Given the description of an element on the screen output the (x, y) to click on. 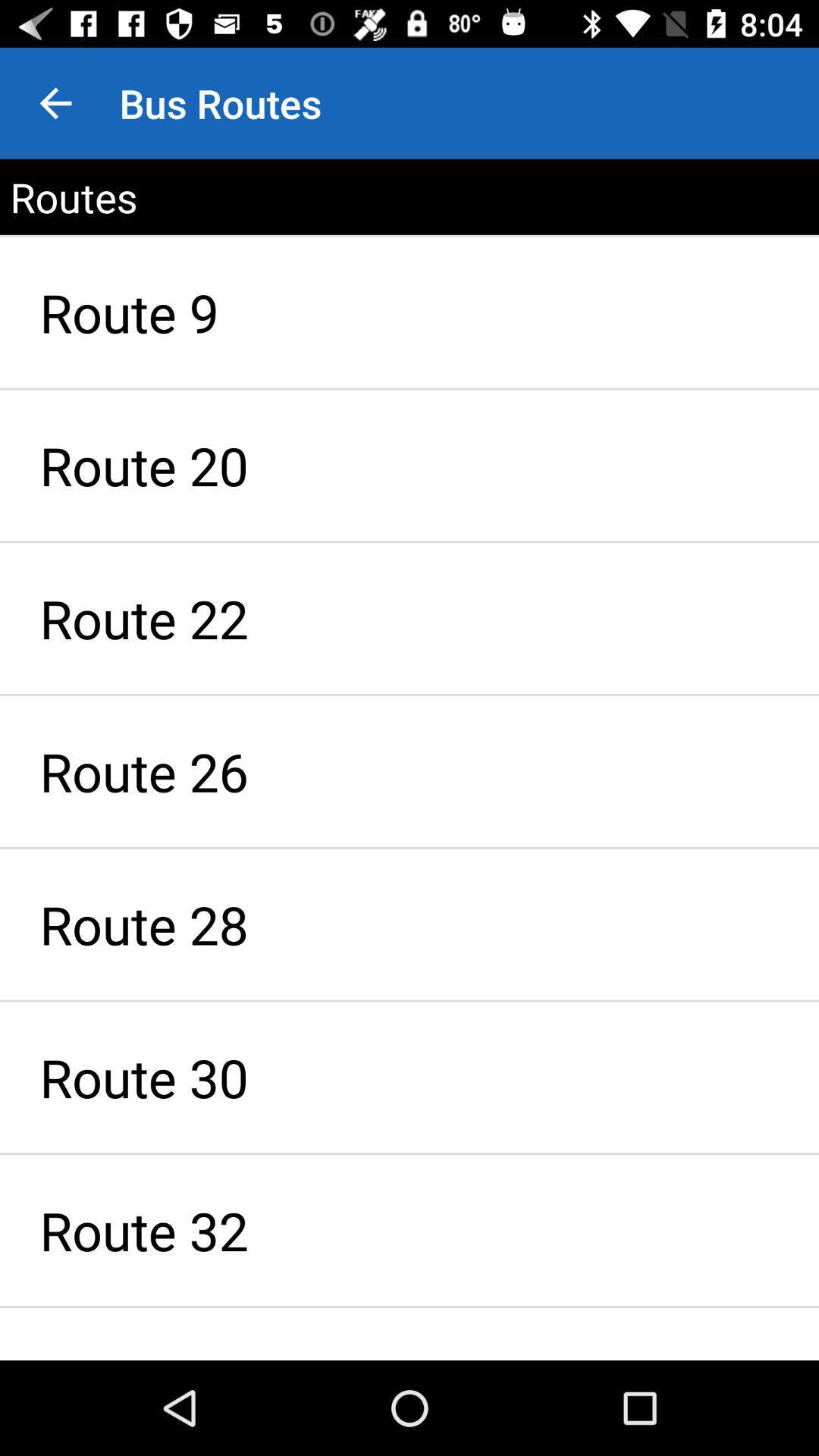
turn on the route 32 icon (409, 1230)
